Given the description of an element on the screen output the (x, y) to click on. 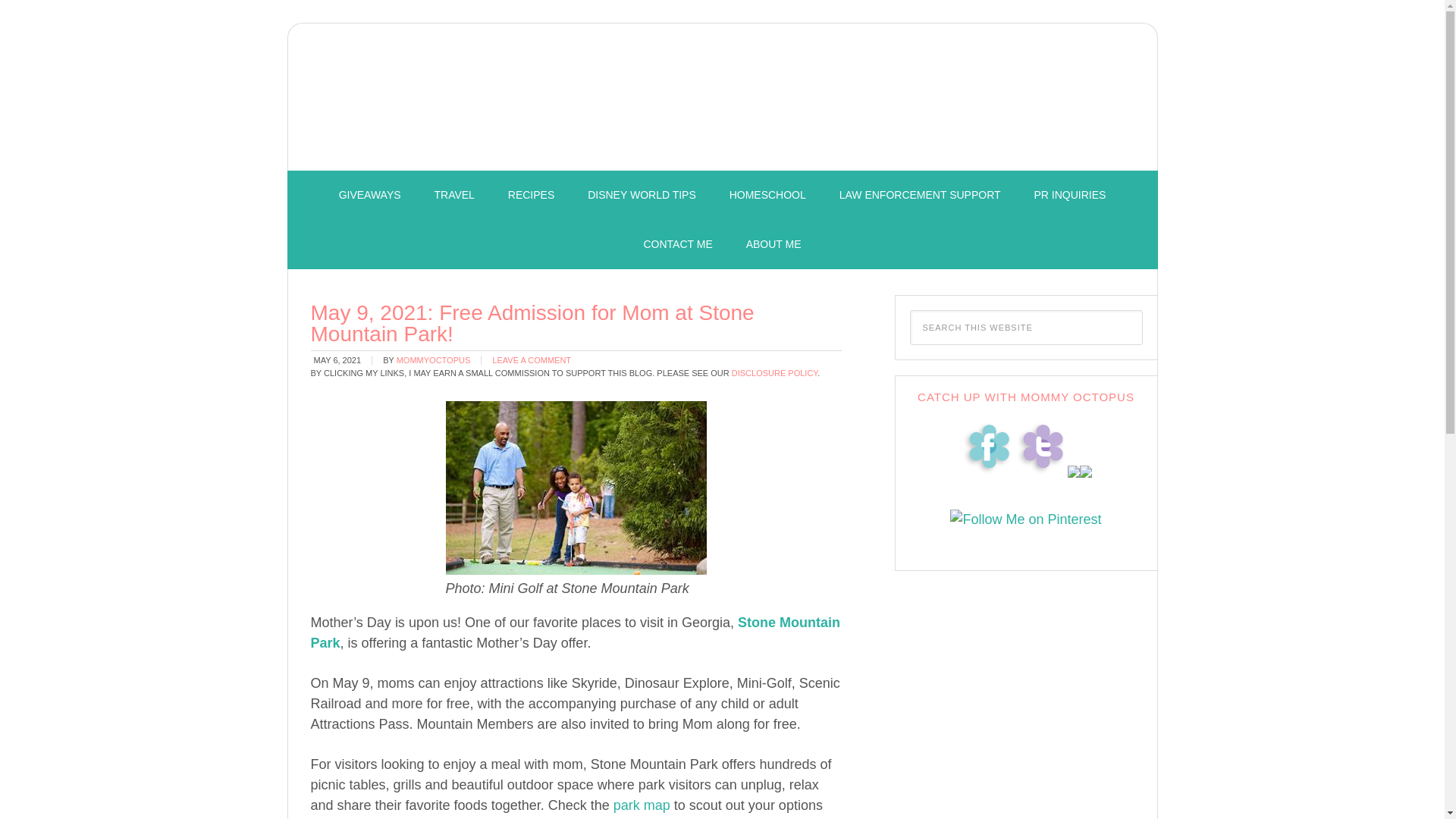
PR INQUIRIES (1069, 195)
MOMMYOCTOPUS (433, 359)
LEAVE A COMMENT (531, 359)
DISCLOSURE POLICY (775, 372)
ABOUT ME (773, 244)
RECIPES (531, 195)
TRAVEL (454, 195)
park map (640, 805)
LAW ENFORCEMENT SUPPORT (920, 195)
